Given the description of an element on the screen output the (x, y) to click on. 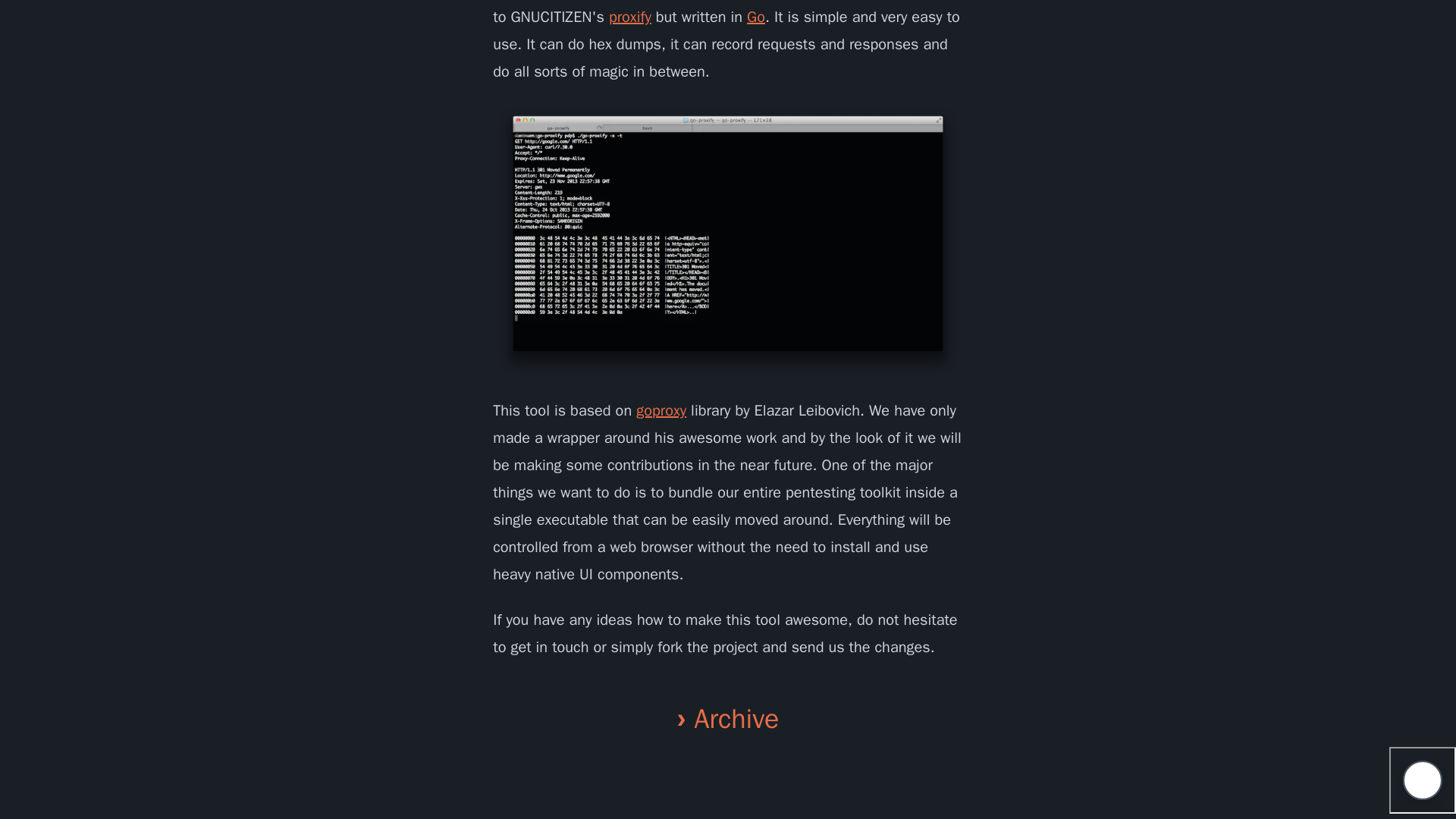
proxify (629, 16)
Go (755, 16)
goproxy (660, 410)
